Given the description of an element on the screen output the (x, y) to click on. 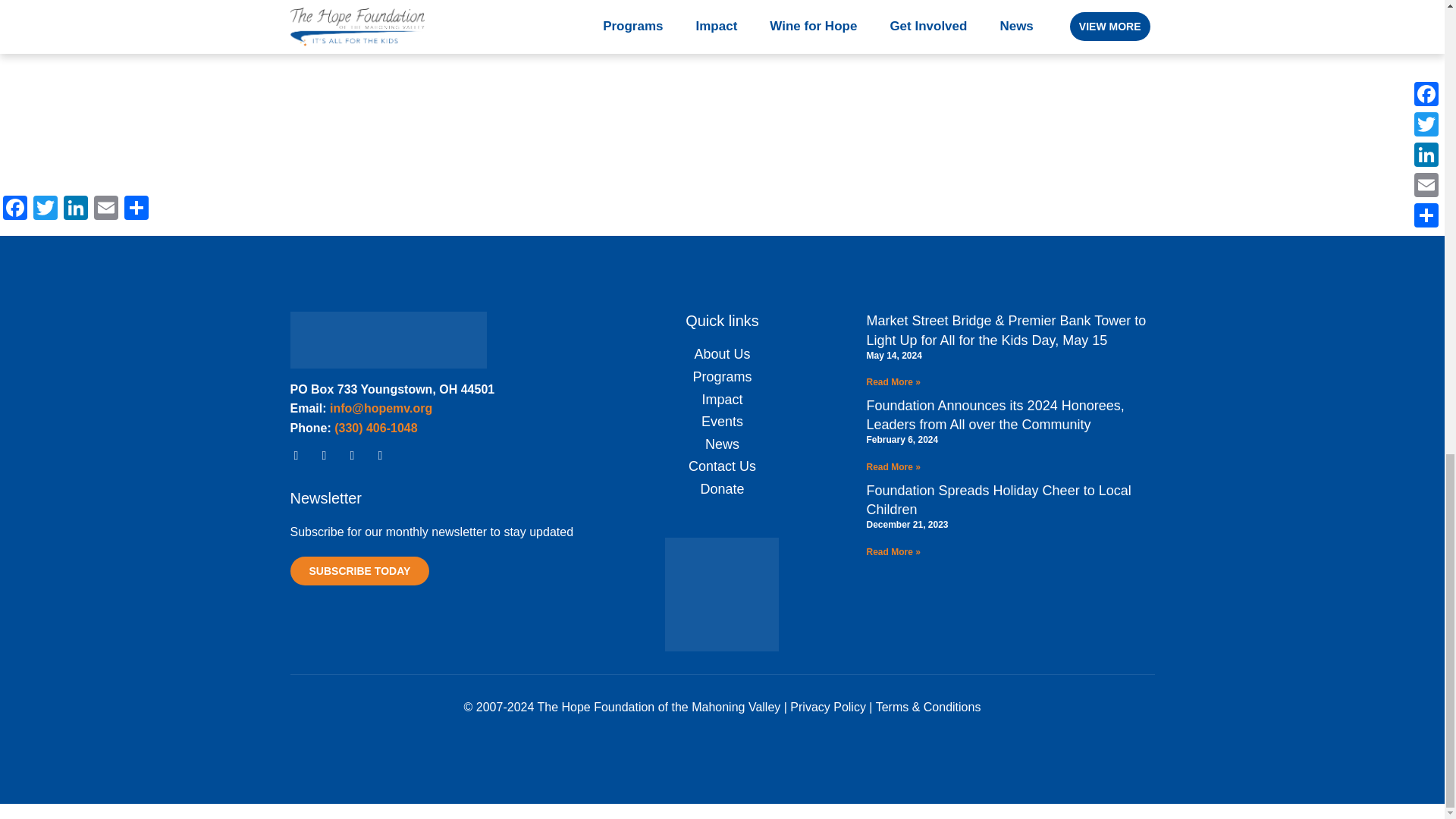
Facebook (15, 209)
LinkedIn (75, 209)
Email (105, 209)
Twitter (45, 209)
